Given the description of an element on the screen output the (x, y) to click on. 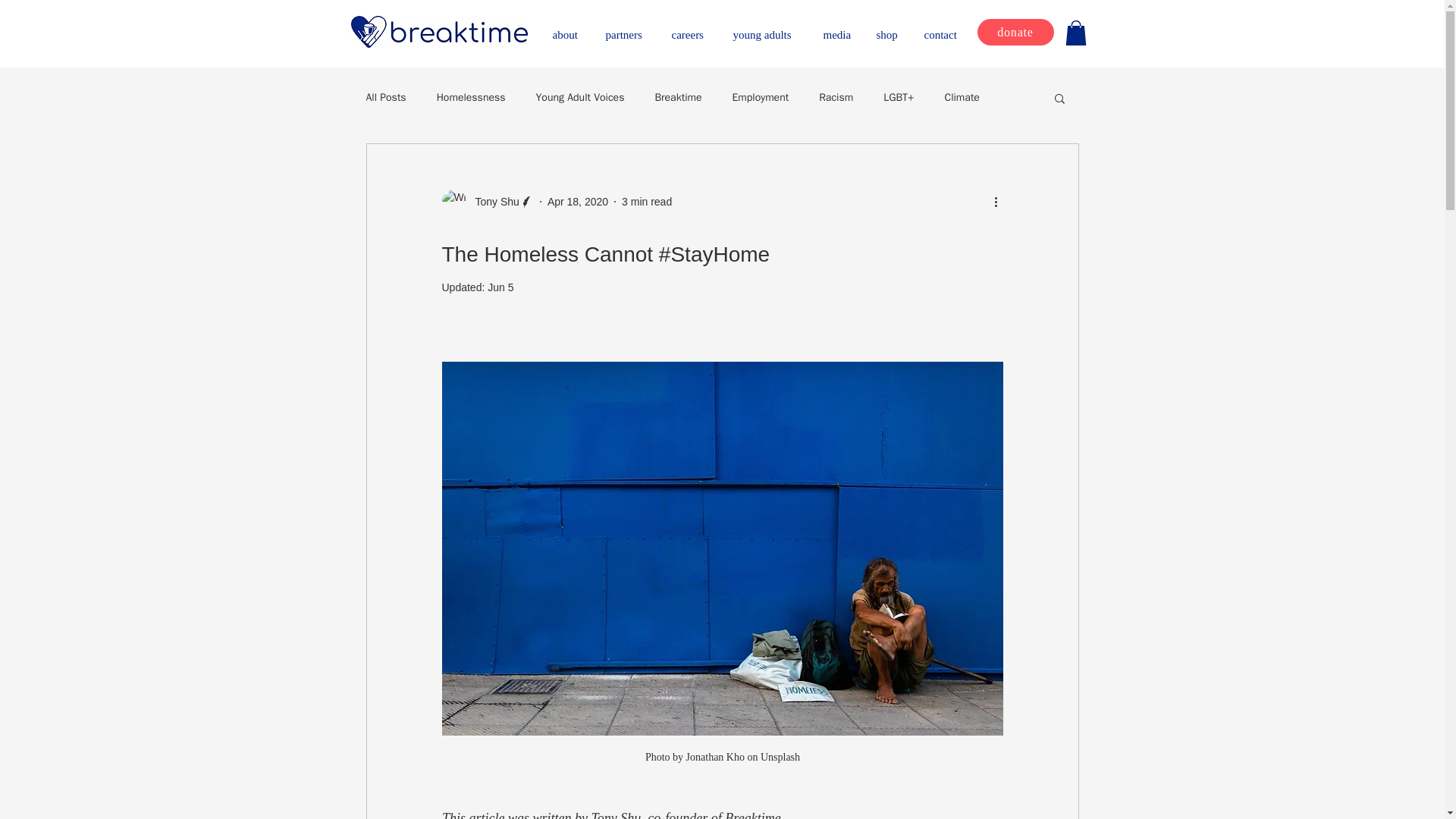
Employment (760, 97)
partners (628, 27)
Jun 5 (500, 287)
Breaktime (677, 97)
All Posts (385, 97)
3 min read (646, 201)
Homelessness (470, 97)
donate (1014, 31)
careers (691, 27)
Climate (961, 97)
media (839, 27)
Tony Shu (491, 201)
contact (945, 27)
Apr 18, 2020 (577, 201)
about (569, 27)
